Given the description of an element on the screen output the (x, y) to click on. 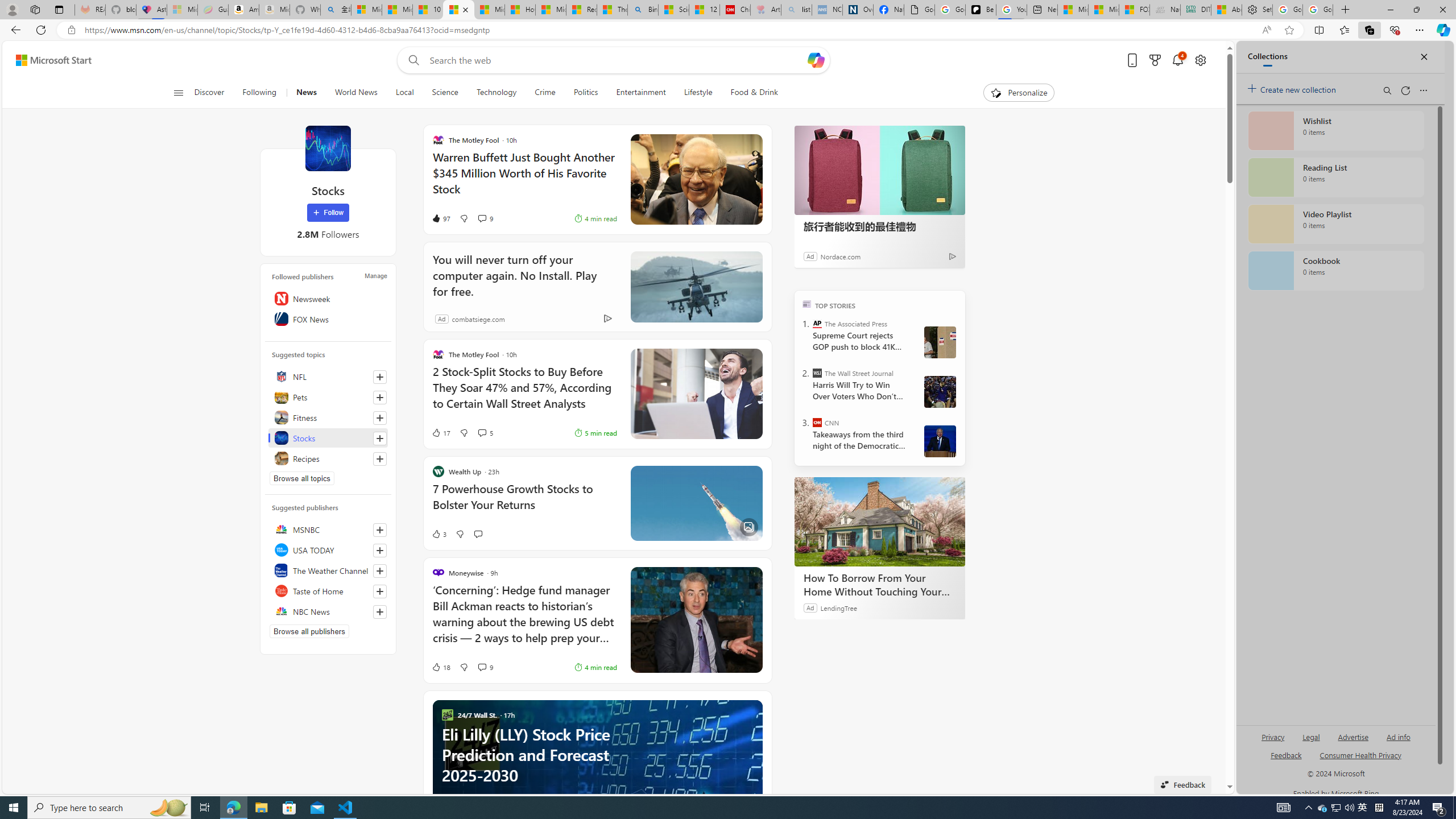
7 Powerhouse Growth Stocks to Bolster Your Returns (524, 502)
Science (444, 92)
combatsiege.com (478, 318)
Start the conversation (478, 533)
Stocks (327, 437)
USA TODAY (327, 549)
Skip to content (49, 59)
